Given the description of an element on the screen output the (x, y) to click on. 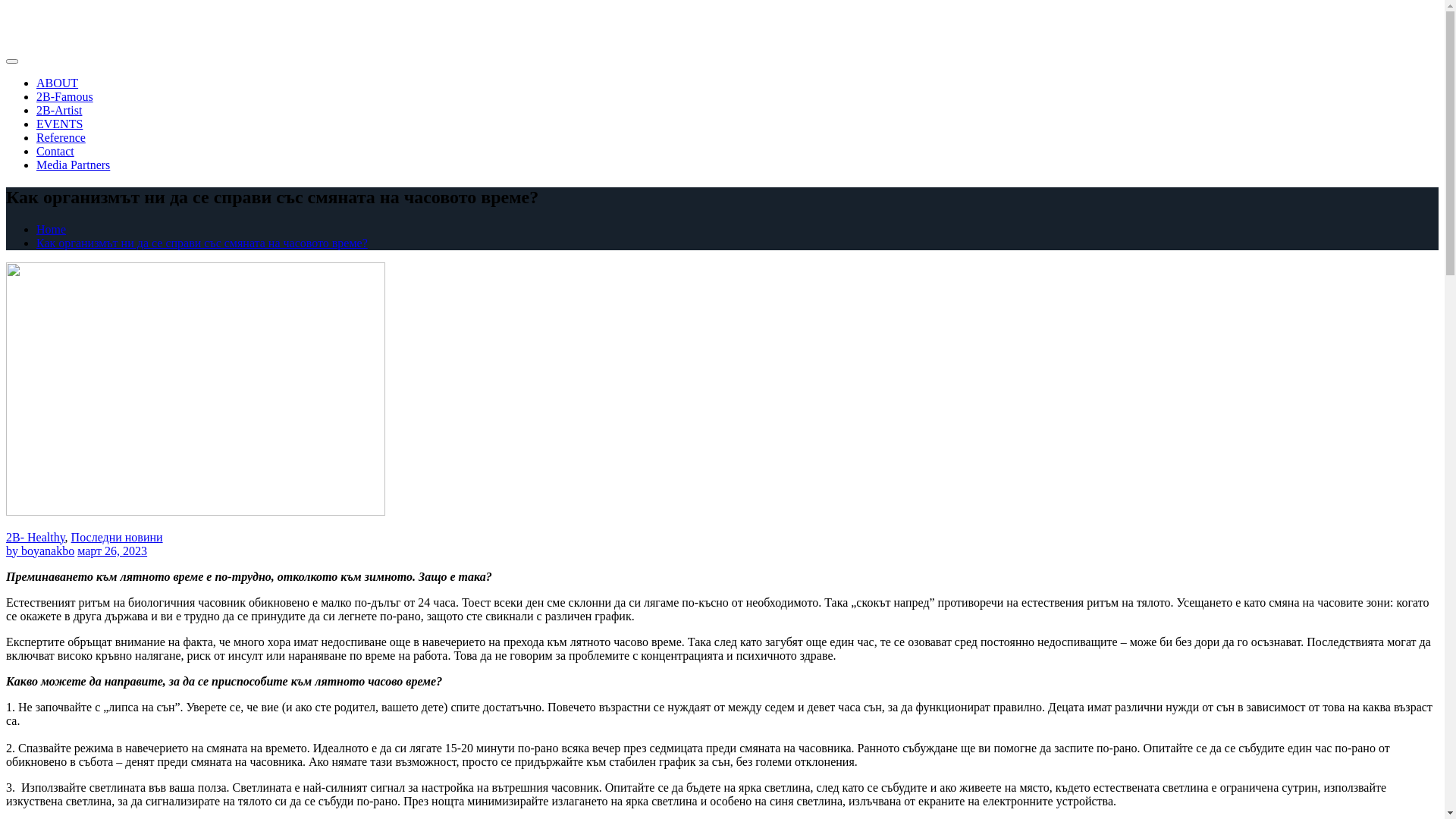
Reference Element type: text (60, 137)
2B- Healthy Element type: text (35, 536)
by boyanakbo Element type: text (40, 550)
ABOUT Element type: text (57, 82)
PR, Event & Consulting Services Element type: text (134, 24)
2B-Famous Element type: text (64, 96)
Contact Element type: text (55, 150)
EVENTS Element type: text (59, 123)
Home Element type: text (50, 228)
Skip to content Element type: text (5, 14)
Media Partners Element type: text (72, 164)
2B-Artist Element type: text (58, 109)
